Given the description of an element on the screen output the (x, y) to click on. 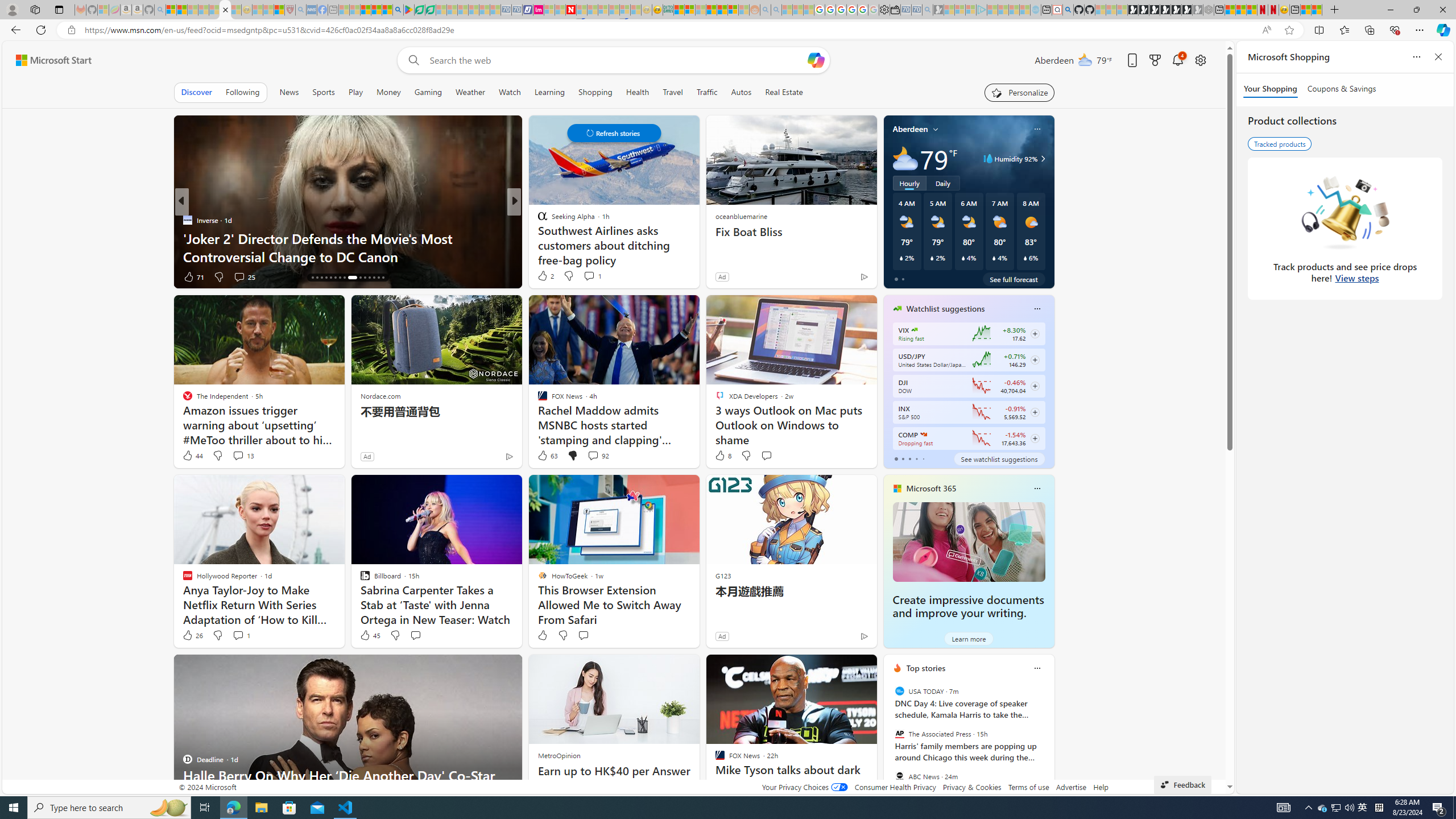
MSNBC - MSN (678, 9)
Allrecipes (537, 219)
View comments 13 Comment (237, 455)
New tab - Sleeping (333, 9)
Cheap Car Rentals - Save70.com - Sleeping (917, 9)
Trusted Community Engagement and Contributions | Guidelines (582, 9)
View comments 92 Comment (597, 455)
